Given the description of an element on the screen output the (x, y) to click on. 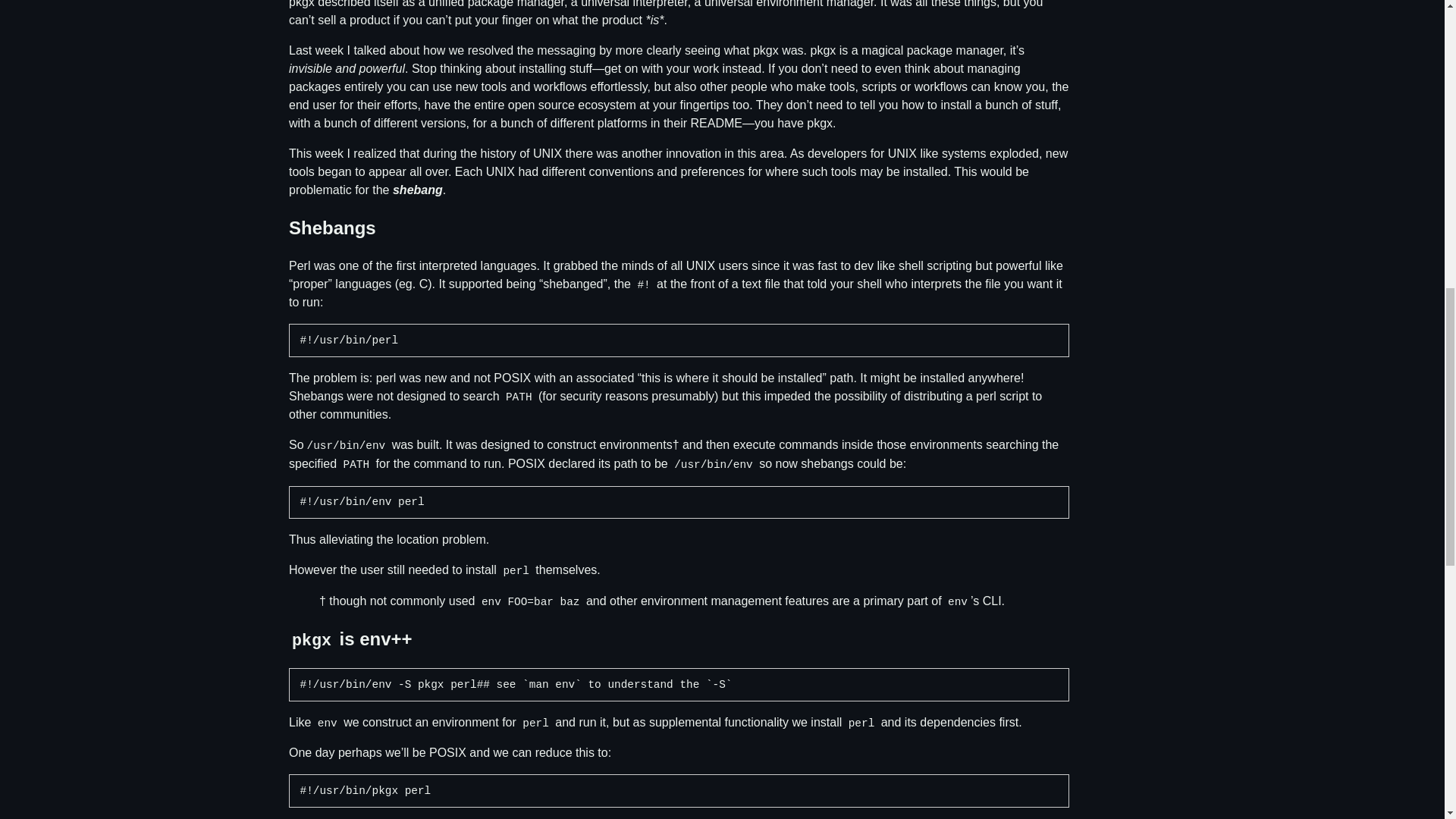
Last week (315, 50)
